Given the description of an element on the screen output the (x, y) to click on. 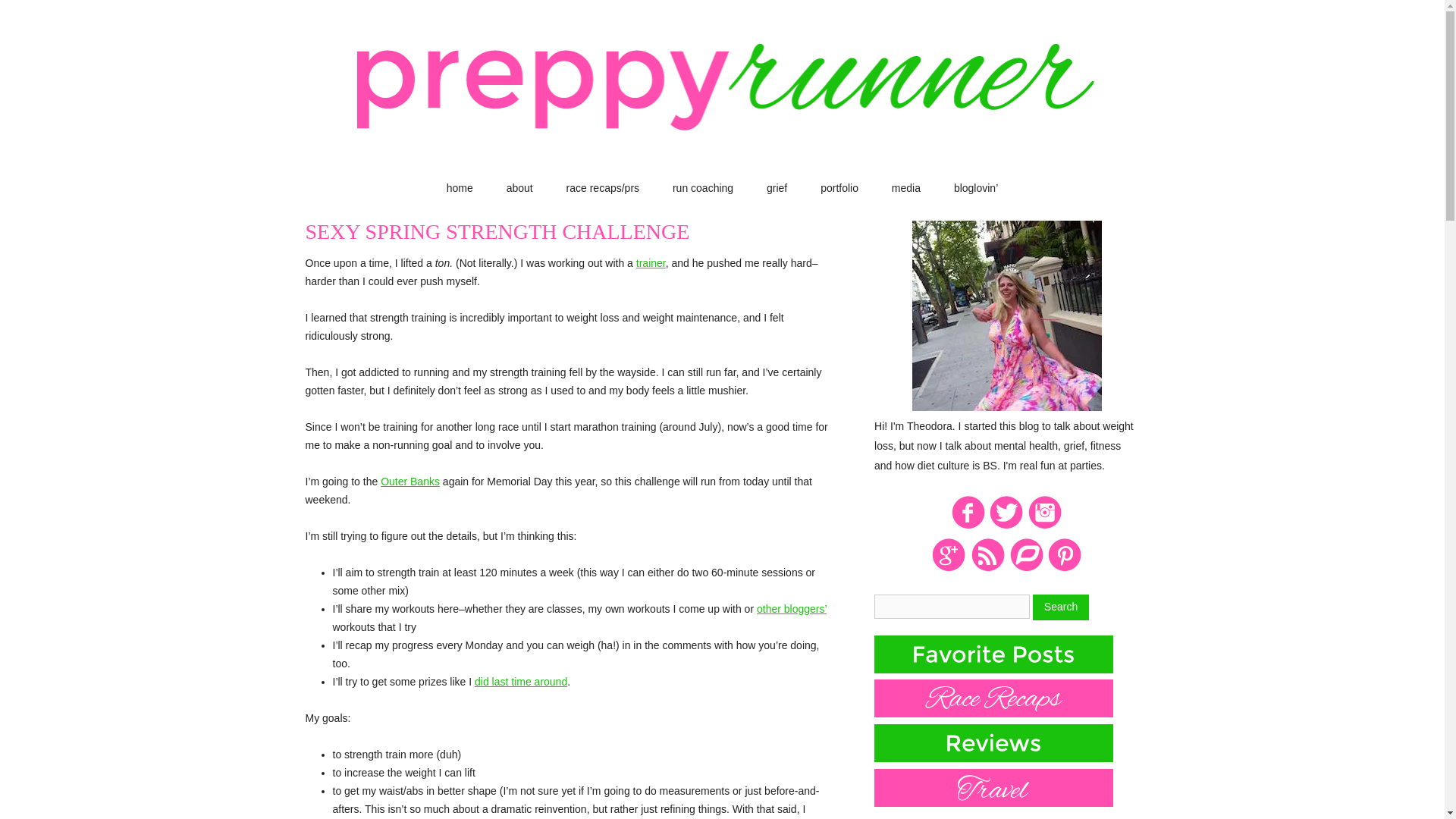
Instagram (1044, 526)
about (519, 188)
Facebook (967, 526)
Twitter (1006, 526)
Skip to content (756, 185)
Joel (650, 263)
Running Training Log (1026, 568)
trainer (650, 263)
Outer Banks (409, 481)
RSS Feed (987, 568)
portfolio (840, 188)
media (905, 188)
run coaching (702, 188)
did last time around (520, 681)
Google Plus (948, 568)
